Given the description of an element on the screen output the (x, y) to click on. 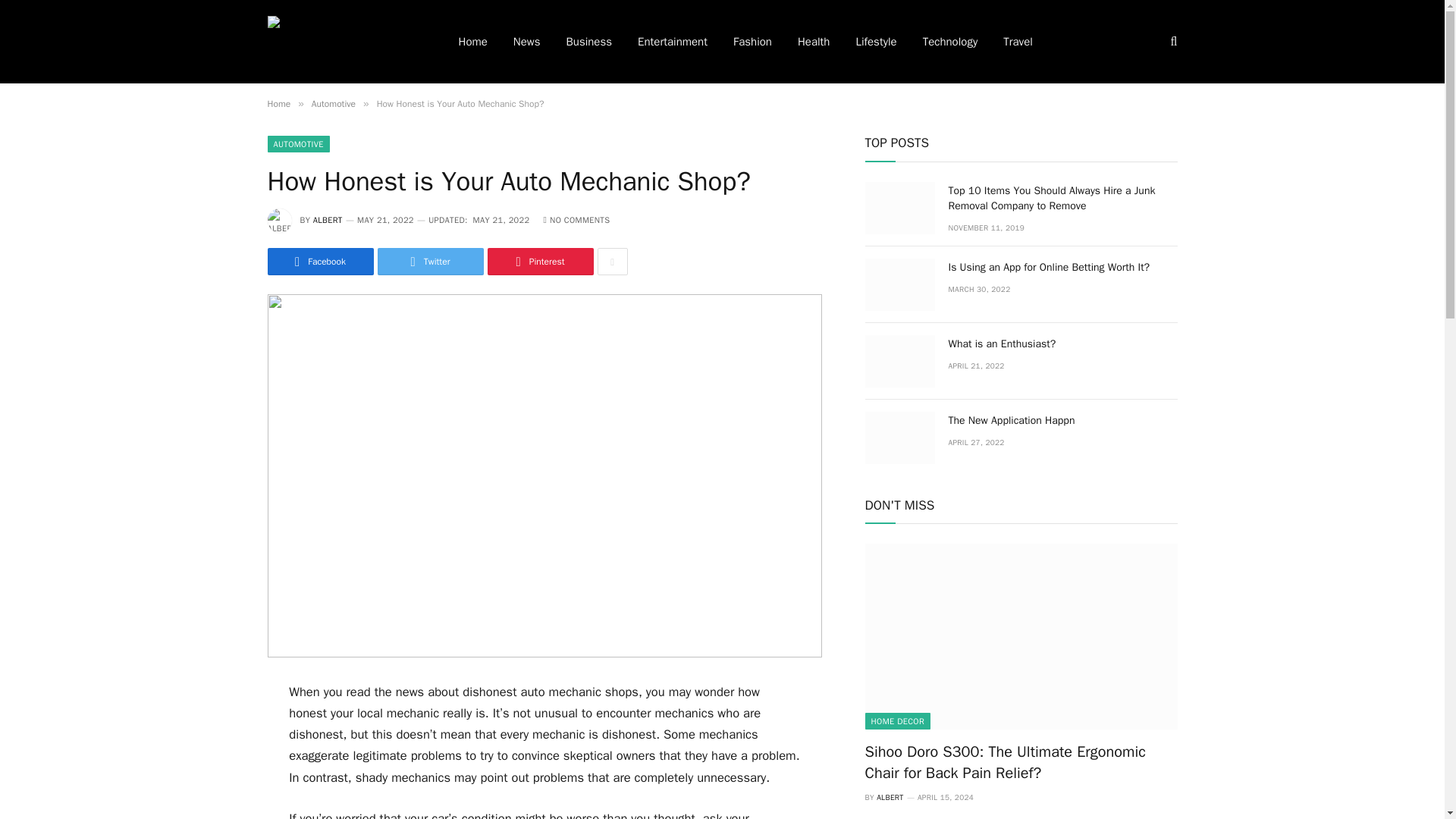
Pinterest (539, 261)
NO COMMENTS (576, 219)
Technology (950, 41)
ALBERT (327, 219)
Entertainment (672, 41)
Share on Facebook (319, 261)
Automotive (333, 103)
Facebook (319, 261)
Share on Pinterest (539, 261)
Home (277, 103)
